Given the description of an element on the screen output the (x, y) to click on. 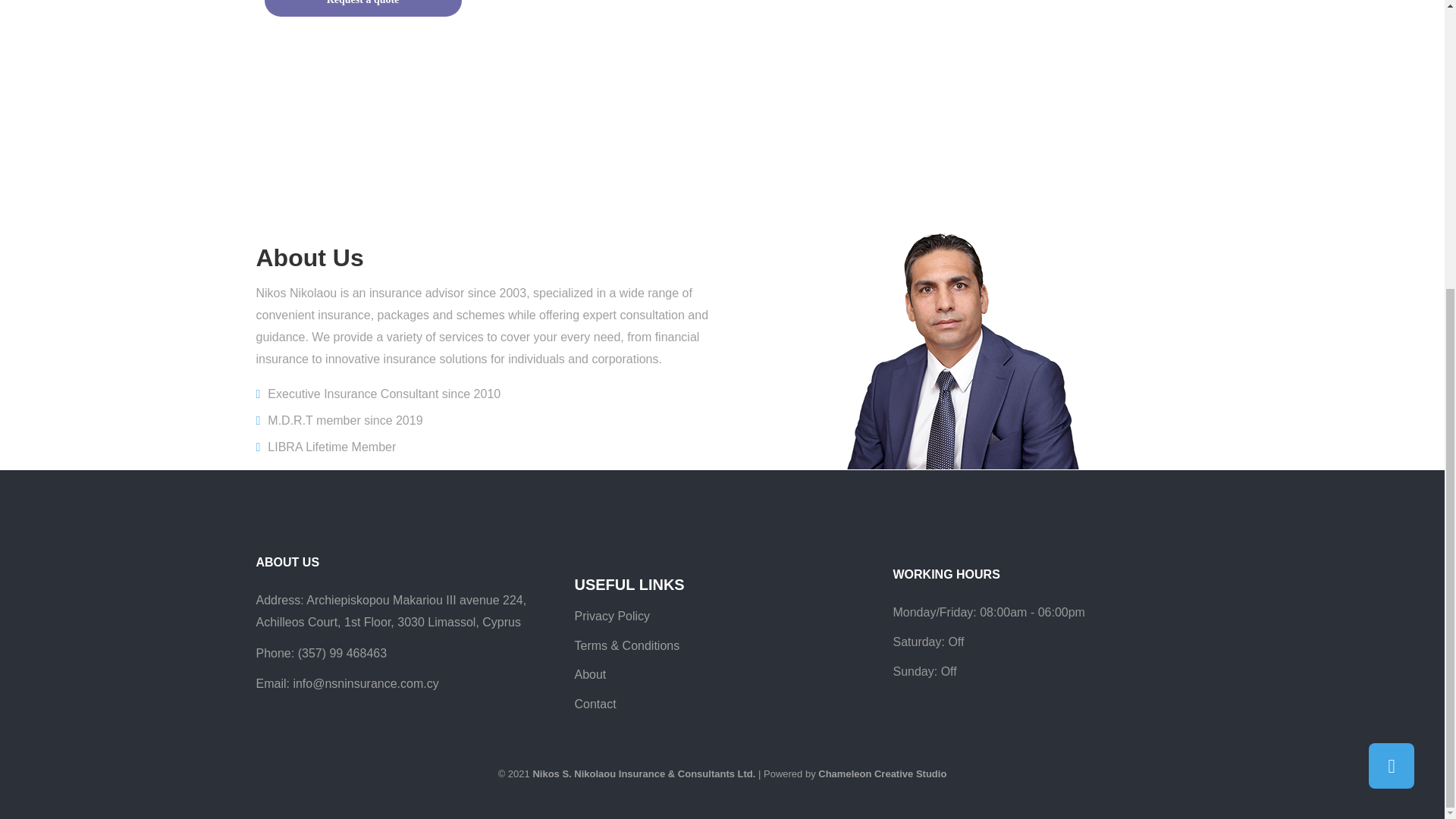
Chameleon Creative Studio (882, 773)
Privacy Policy (611, 615)
About (589, 674)
Request a quote (362, 2)
Contact (594, 703)
